Given the description of an element on the screen output the (x, y) to click on. 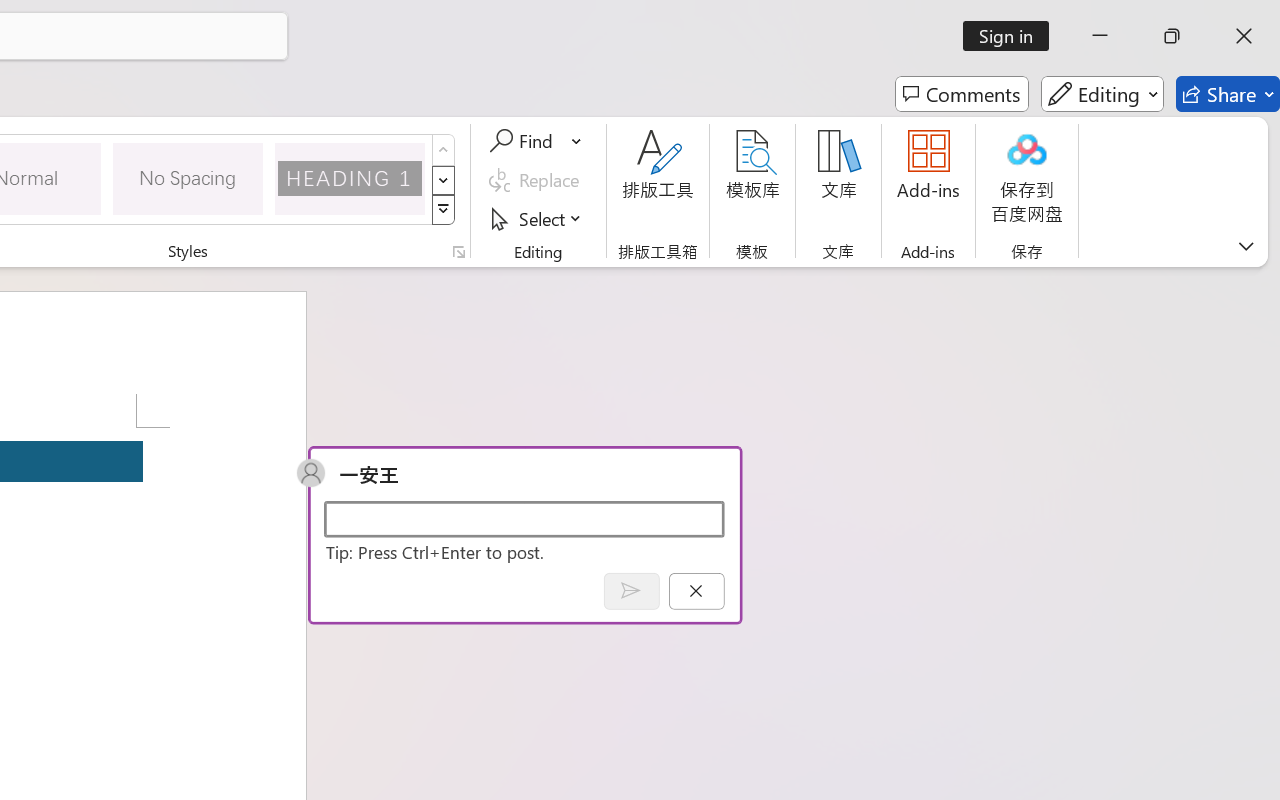
Editing (1101, 94)
Start a conversation (524, 518)
Post comment (Ctrl + Enter) (630, 590)
Sign in (1012, 35)
